Given the description of an element on the screen output the (x, y) to click on. 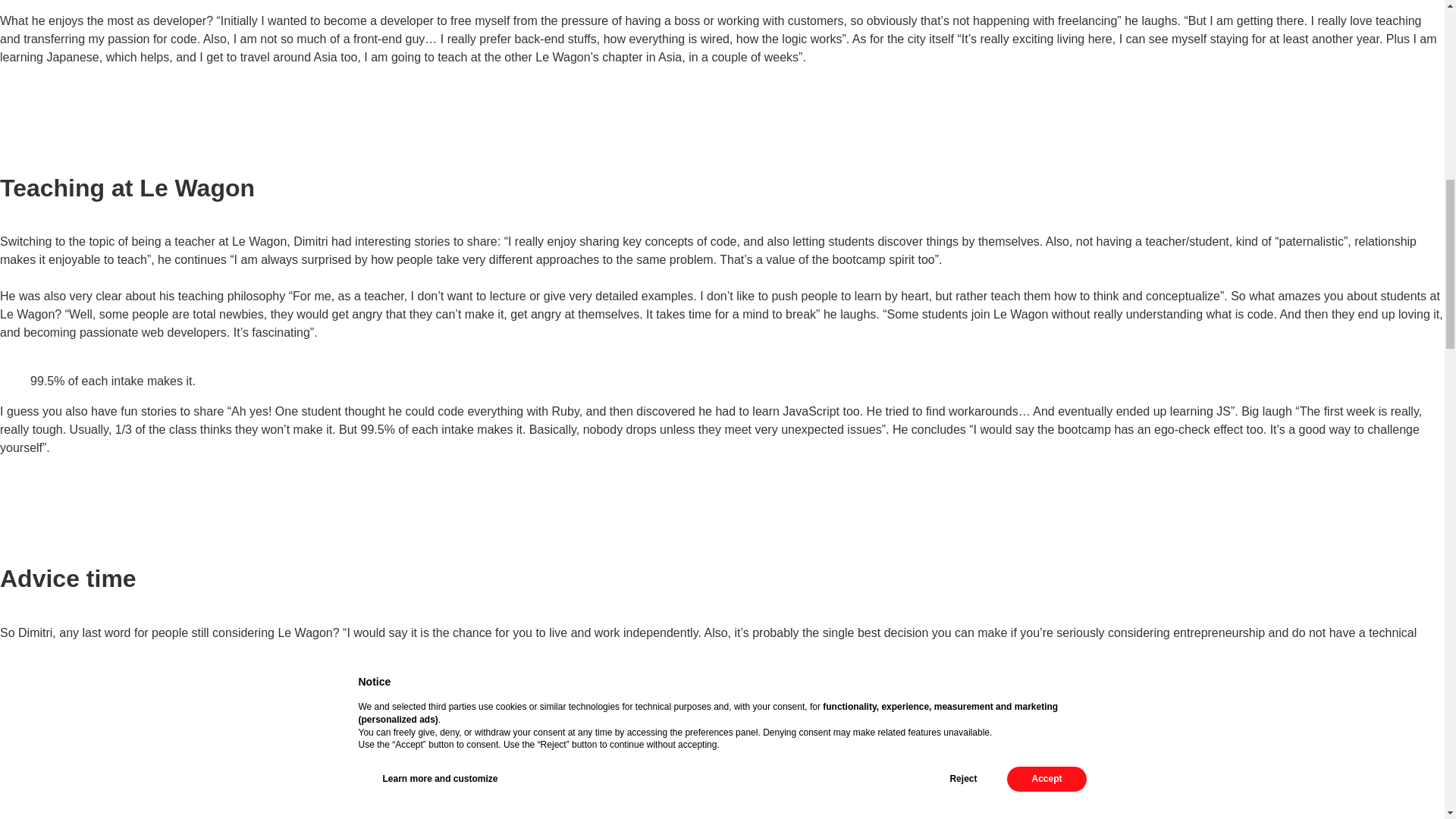
Le Wagon Tokyo Medium page (293, 723)
